Given the description of an element on the screen output the (x, y) to click on. 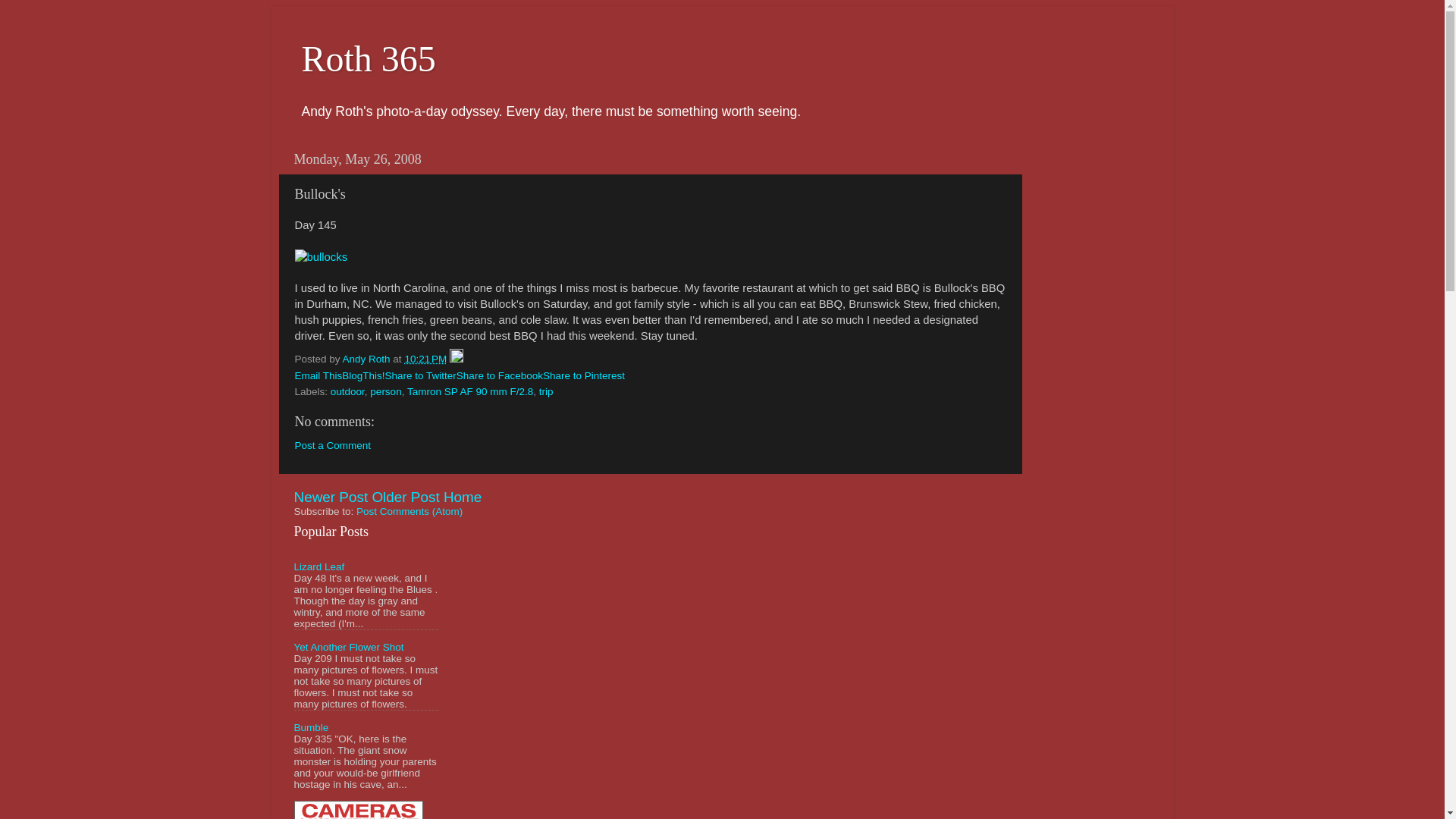
Older Post (405, 496)
BlogThis! (363, 375)
Edit Post (456, 358)
Bumble (311, 727)
Share to Facebook (500, 375)
Andy Roth (367, 358)
bullocks by DuckBrown, on Flickr (320, 256)
person (385, 391)
Email This (318, 375)
outdoor (347, 391)
Share to Twitter (421, 375)
Lizard Leaf (319, 566)
Roth 365 (368, 58)
BlogThis! (363, 375)
Share to Facebook (500, 375)
